Given the description of an element on the screen output the (x, y) to click on. 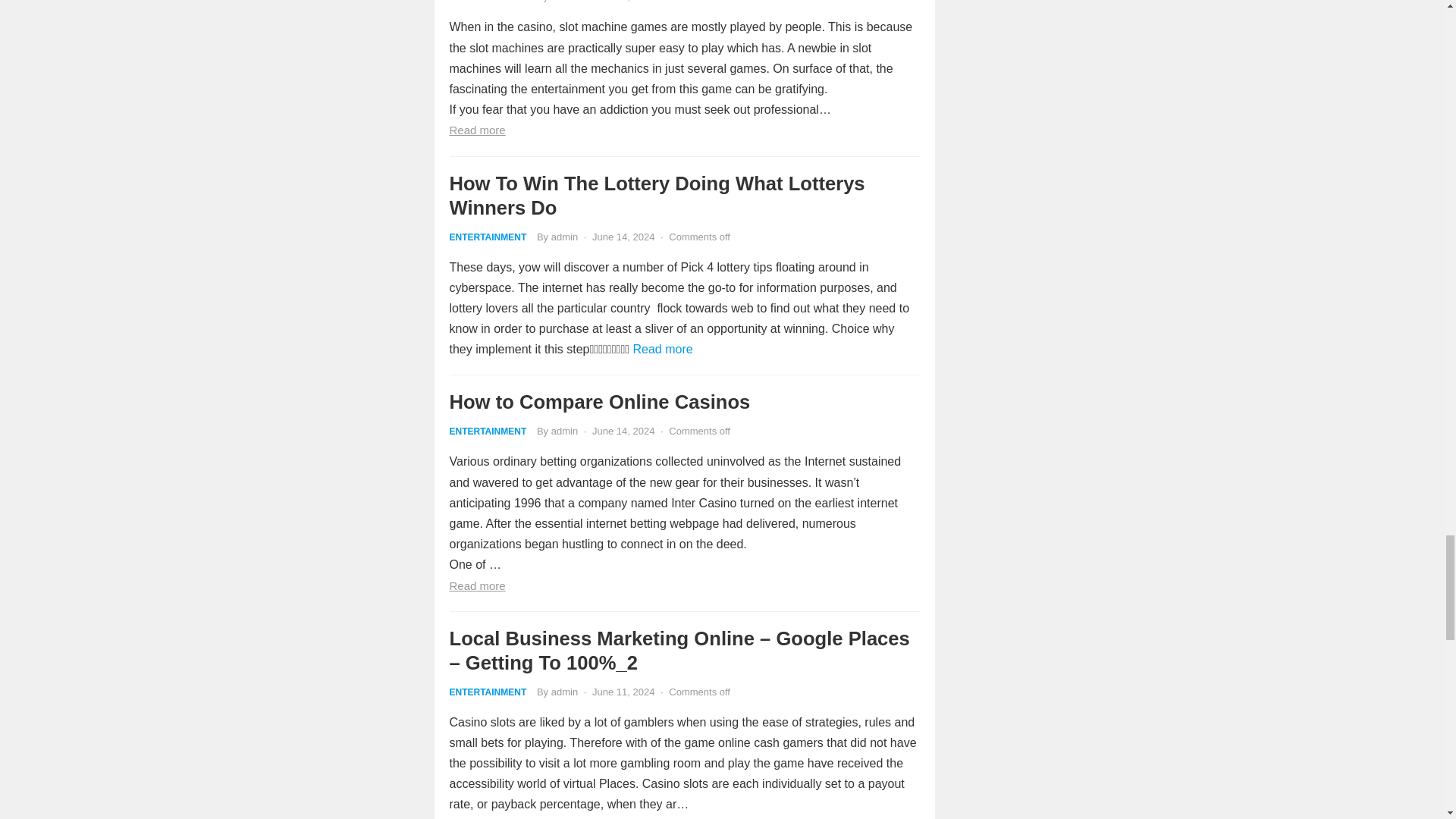
Posts by admin (564, 235)
Posts by admin (564, 1)
Posts by admin (564, 691)
Posts by admin (564, 430)
